Given the description of an element on the screen output the (x, y) to click on. 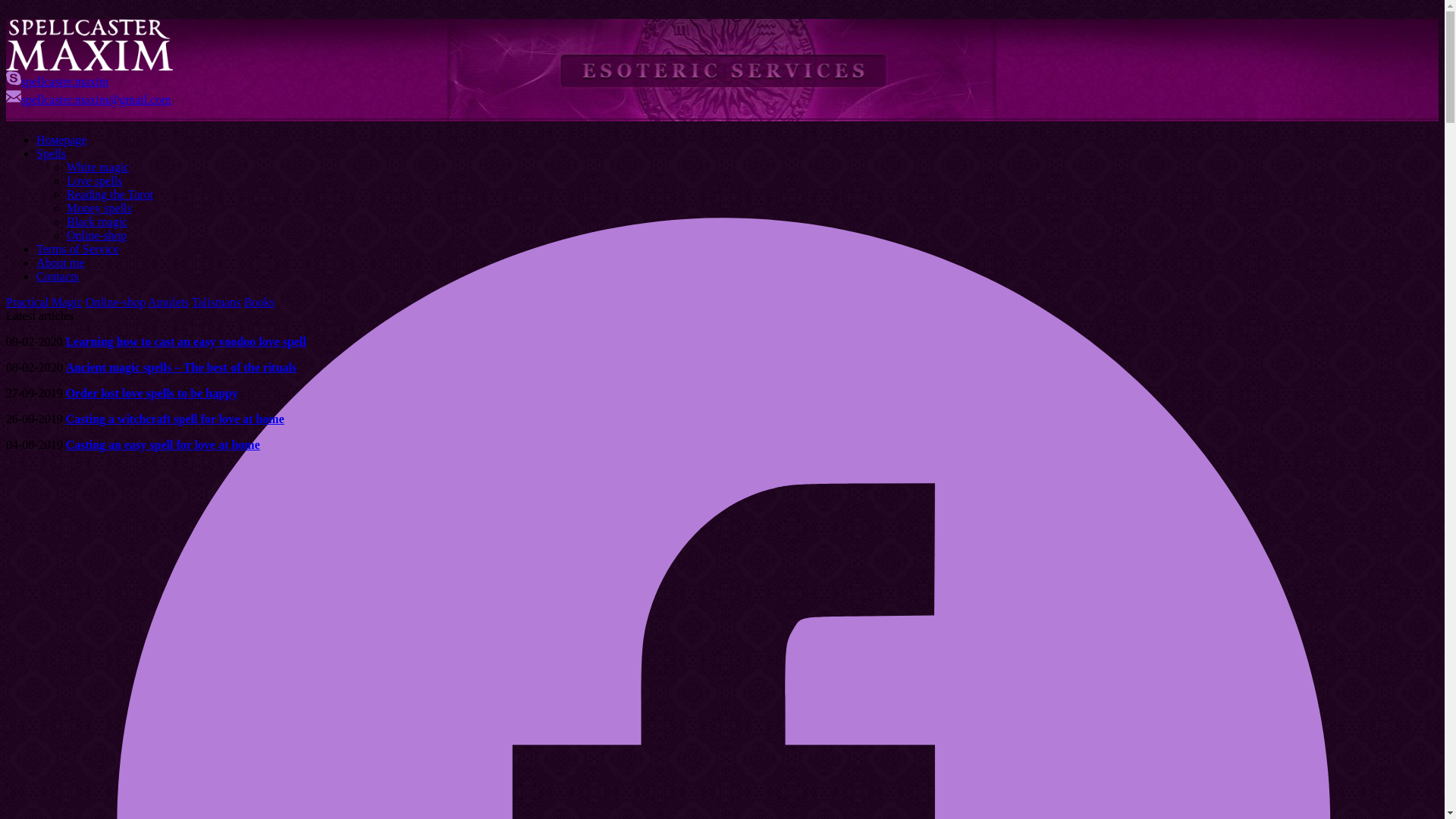
Order lost love spells to be happy (151, 392)
Books (259, 301)
Online-shop (96, 235)
Black magic (97, 221)
Learning how to cast an easy voodoo love spell (185, 341)
Terms of Service (77, 248)
Online-shop (115, 301)
Amulets (168, 301)
Main Page (89, 44)
Reading the Tarot (109, 194)
Casting an easy spell for love at home (162, 444)
Contacts (57, 276)
White magic (97, 166)
Casting a witchcraft spell for love at home (174, 418)
Practical Magic (43, 301)
